Given the description of an element on the screen output the (x, y) to click on. 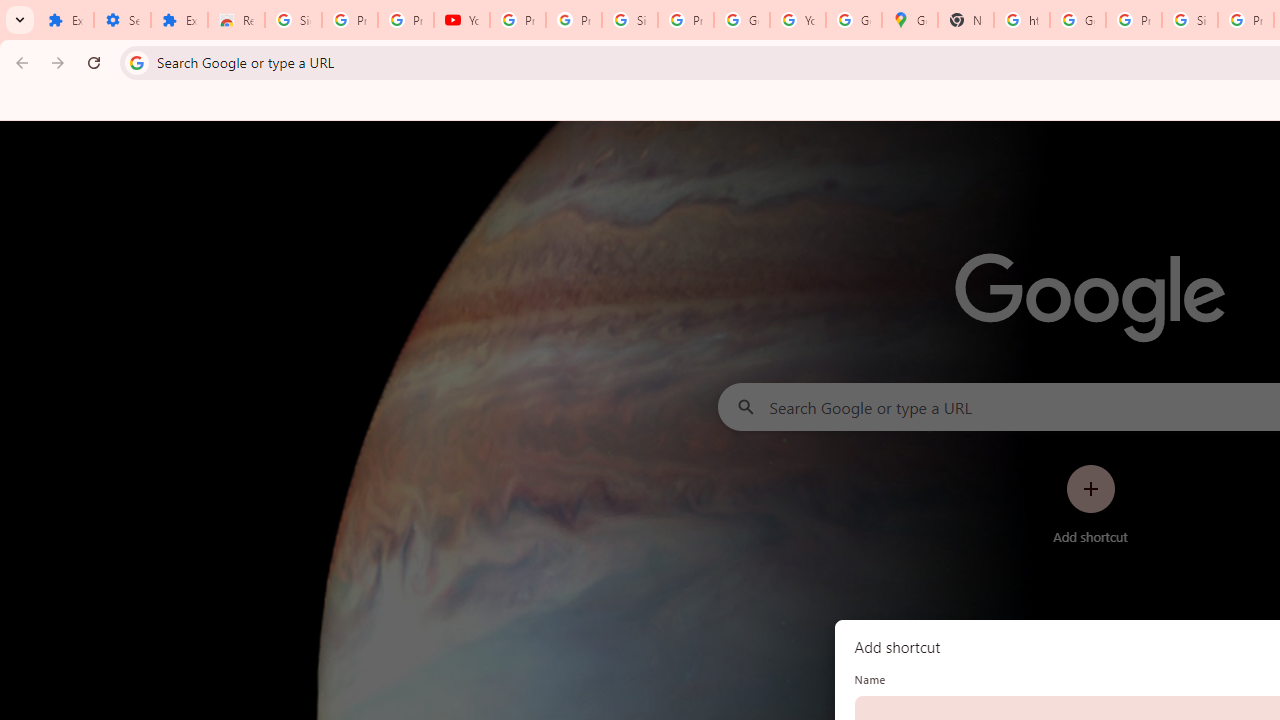
Extensions (65, 20)
Sign in - Google Accounts (629, 20)
YouTube (797, 20)
Google Account (742, 20)
Settings (122, 20)
